Given the description of an element on the screen output the (x, y) to click on. 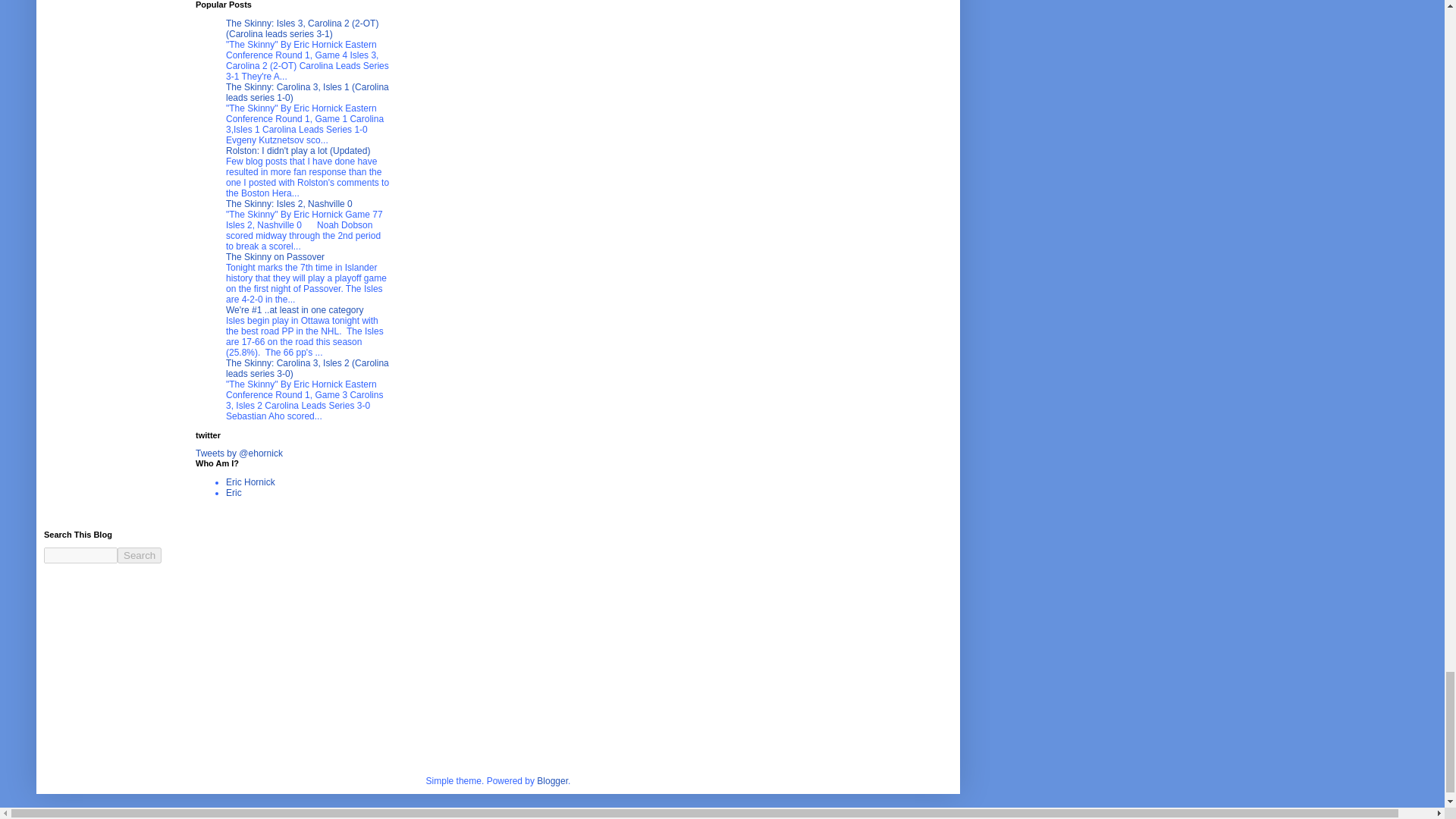
search (139, 555)
search (80, 555)
Search (139, 555)
Search (139, 555)
